Given the description of an element on the screen output the (x, y) to click on. 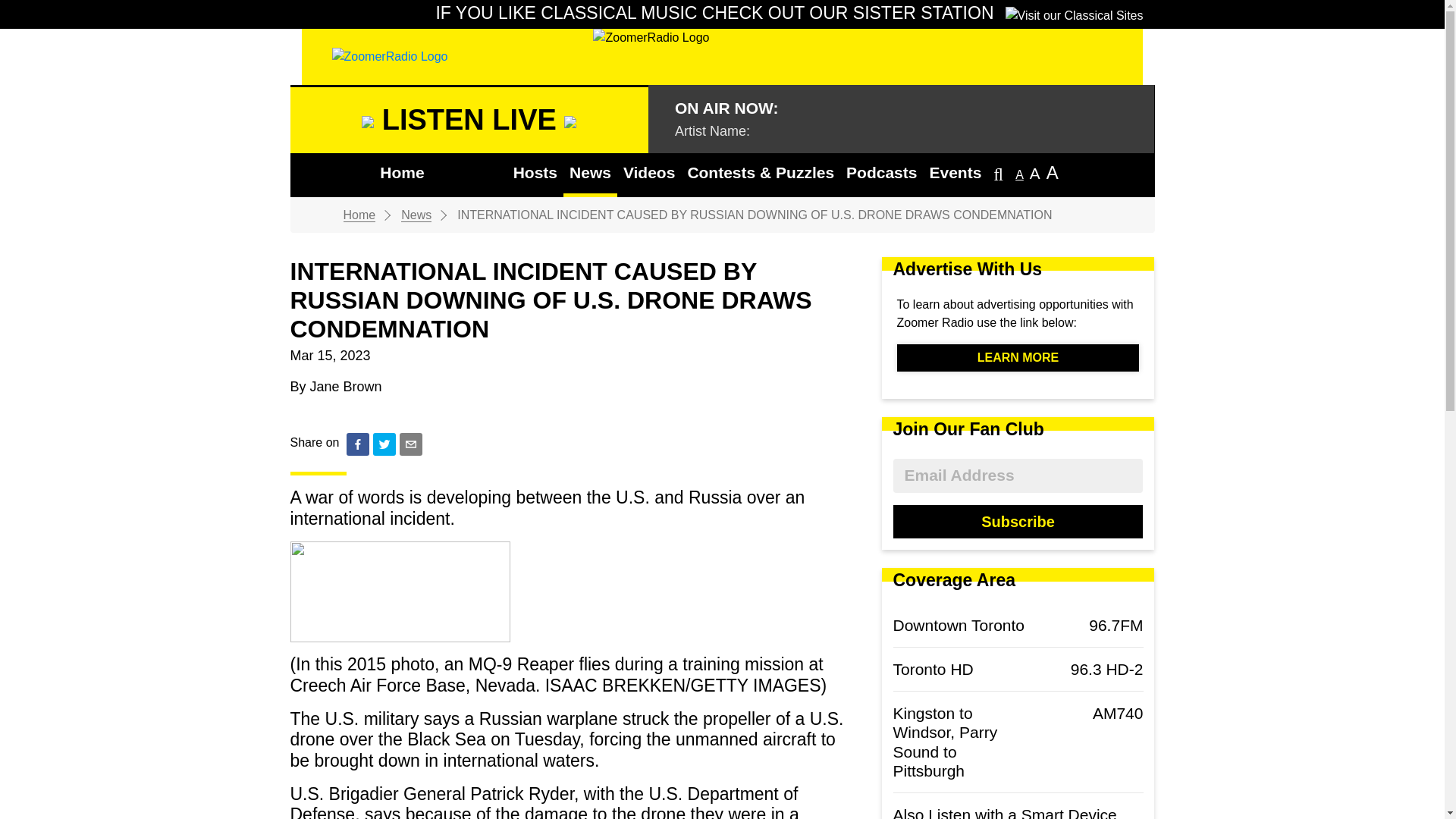
IF YOU LIKE CLASSICAL MUSIC CHECK OUT OUR SISTER STATION (788, 14)
News (415, 214)
Home (358, 214)
Shows (468, 173)
Videos (649, 175)
Home (401, 175)
Podcasts (881, 175)
News (590, 175)
Hosts (534, 175)
